Given the description of an element on the screen output the (x, y) to click on. 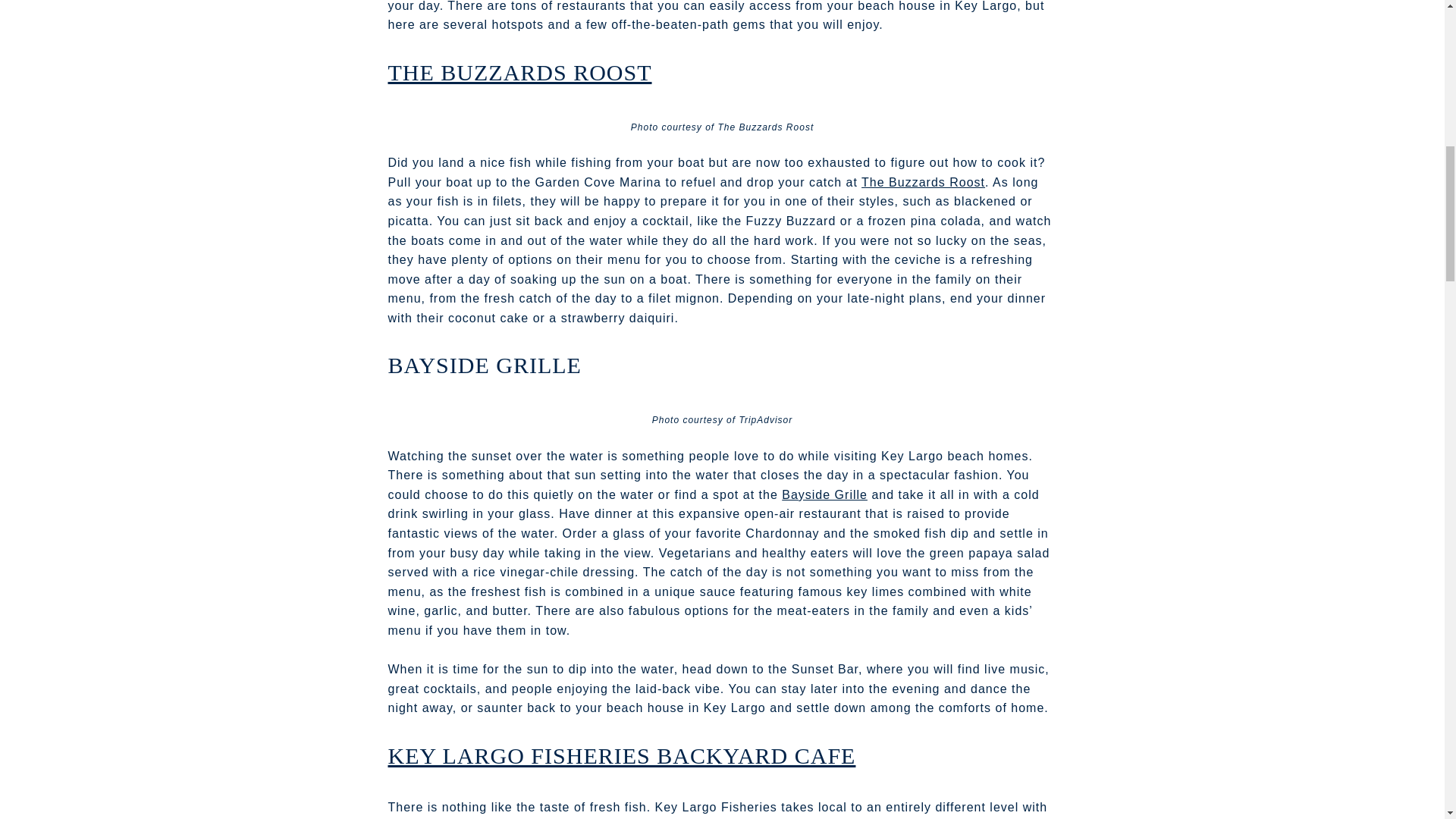
Bayside Grille (824, 494)
THE BUZZARDS ROOST (520, 72)
The Buzzards Roost (923, 182)
KEY LARGO FISHERIES BACKYARD CAFE (622, 755)
